Given the description of an element on the screen output the (x, y) to click on. 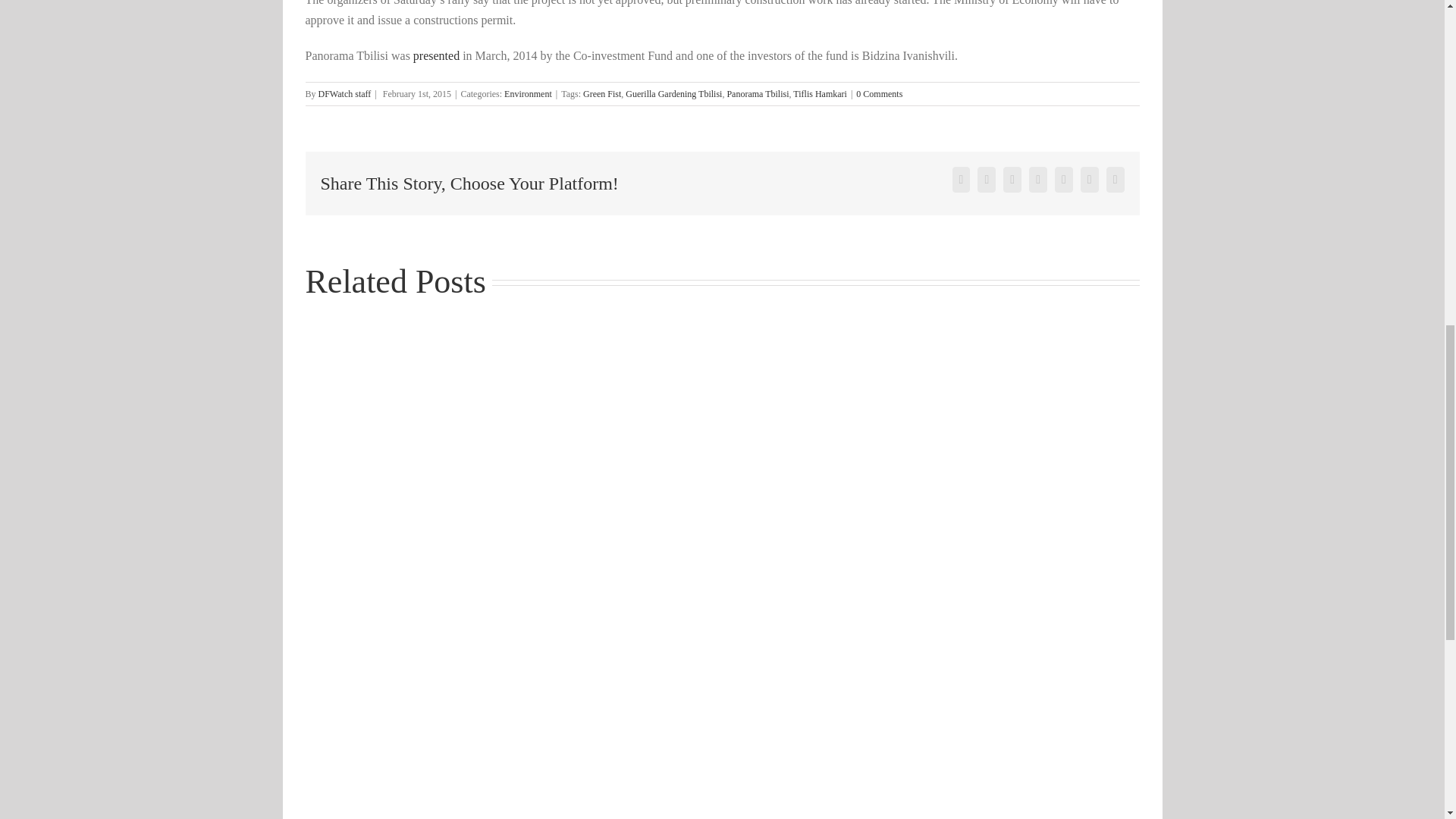
Tiflis Hamkari (820, 92)
Guerilla Gardening Tbilisi (674, 92)
DFWatch staff (344, 92)
Posts by DFWatch staff (344, 92)
Environment (527, 92)
presented (436, 55)
0 Comments (879, 92)
Panorama Tbilisi (757, 92)
Green Fist (602, 92)
